Given the description of an element on the screen output the (x, y) to click on. 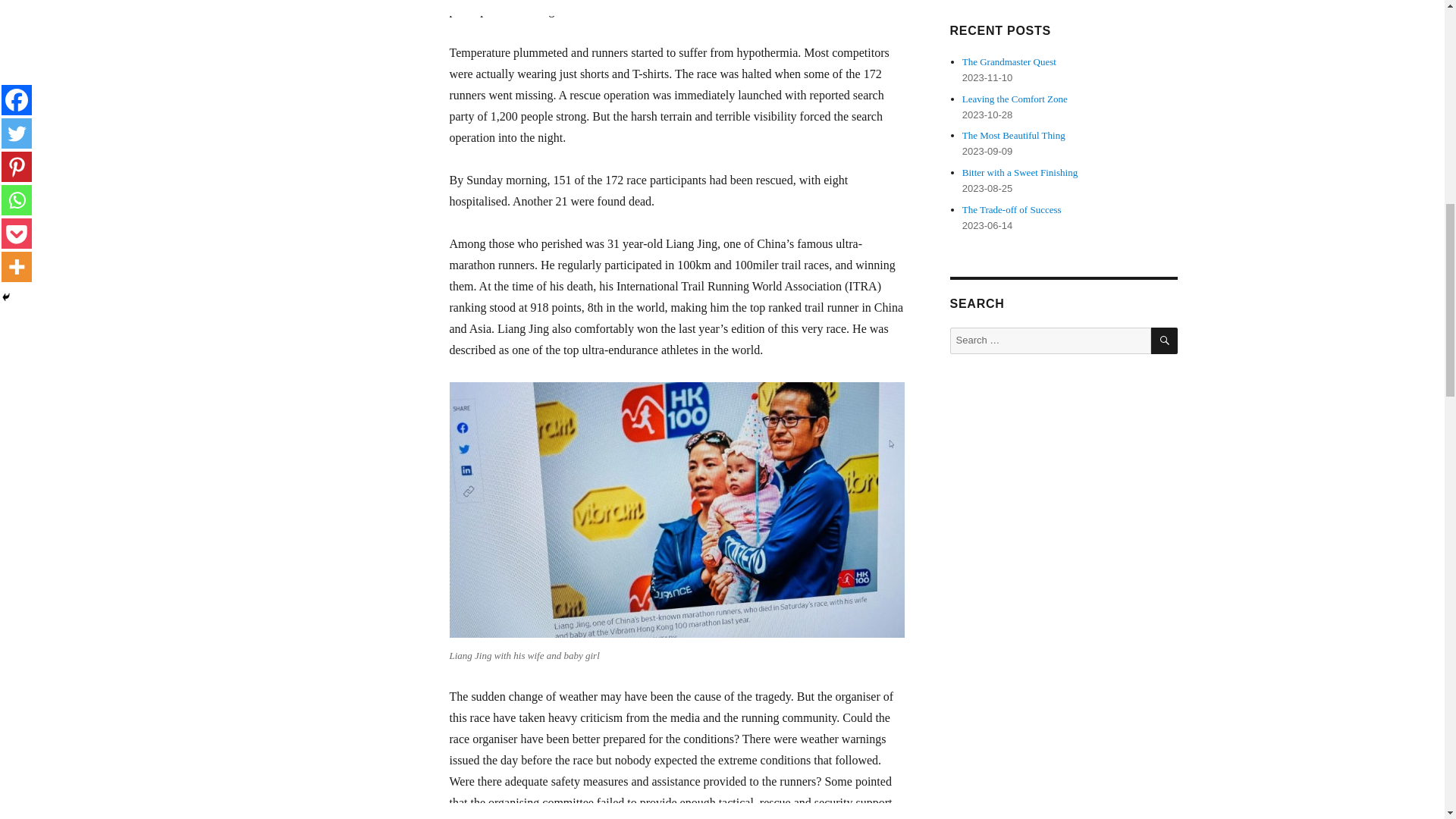
life (272, 8)
Leaving the Comfort Zone (1014, 98)
The Grandmaster Quest (1009, 61)
